Given the description of an element on the screen output the (x, y) to click on. 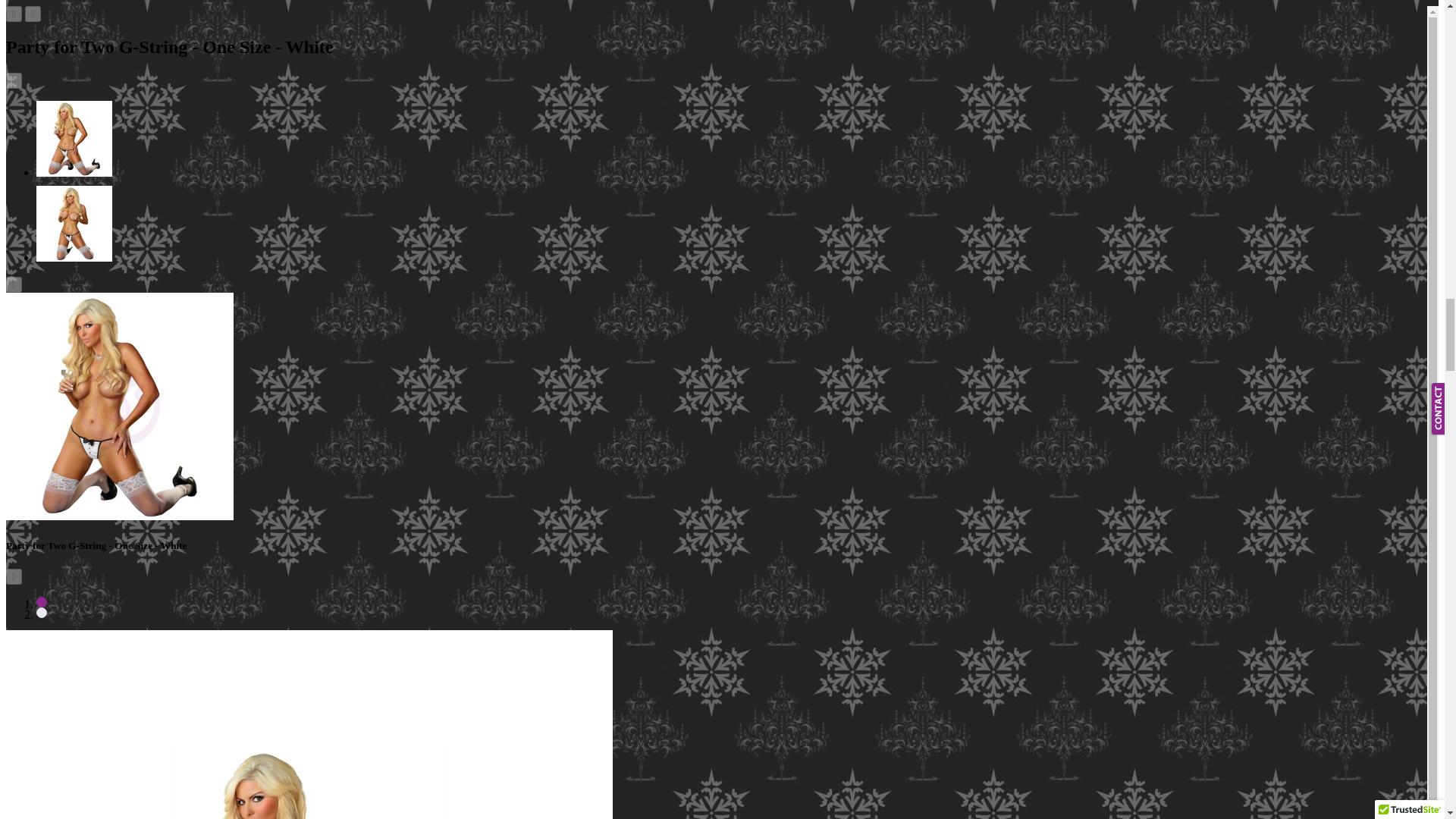
Add to Wish List (13, 13)
Compare this Product (32, 13)
